Given the description of an element on the screen output the (x, y) to click on. 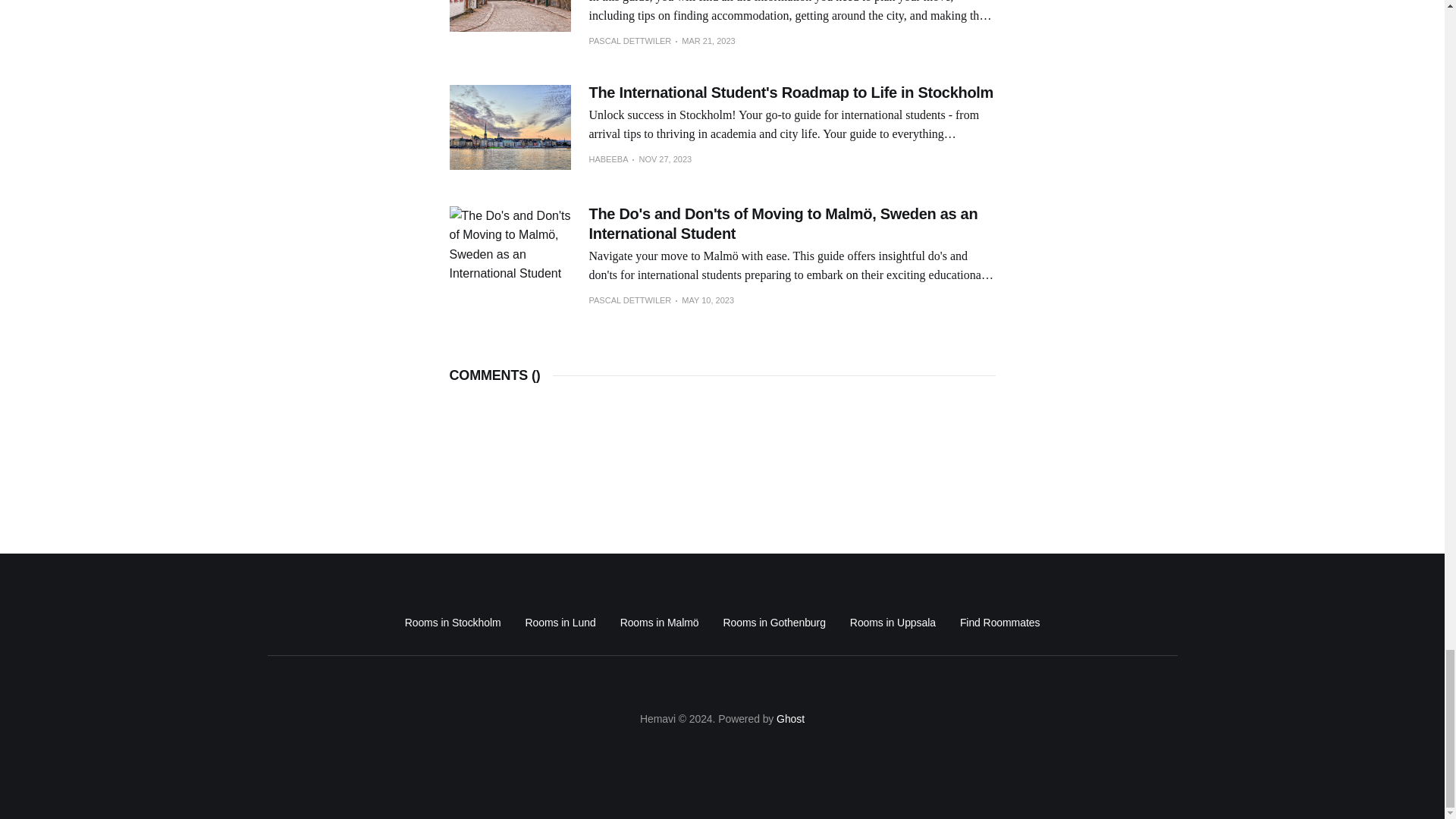
Rooms in Lund (560, 622)
Rooms in Stockholm (452, 622)
Rooms in Gothenburg (773, 622)
Find Roommates (999, 622)
Rooms in Uppsala (893, 622)
Ghost (790, 718)
